Given the description of an element on the screen output the (x, y) to click on. 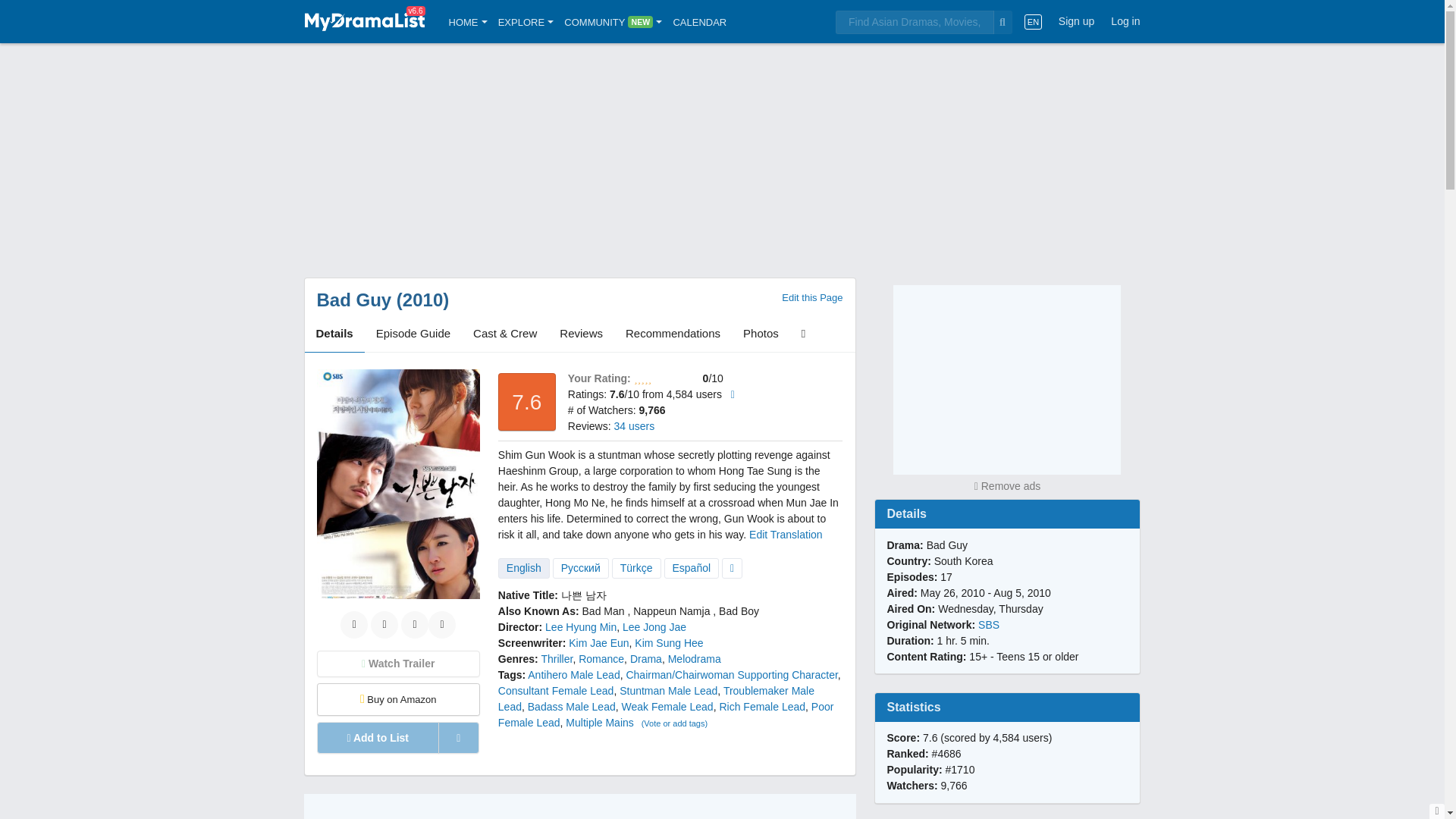
Nappeun Namja (671, 611)
Bad Guy (354, 299)
Bad Man (603, 611)
HOME (467, 21)
v6.6 (364, 21)
Bad Boy (738, 611)
